Given the description of an element on the screen output the (x, y) to click on. 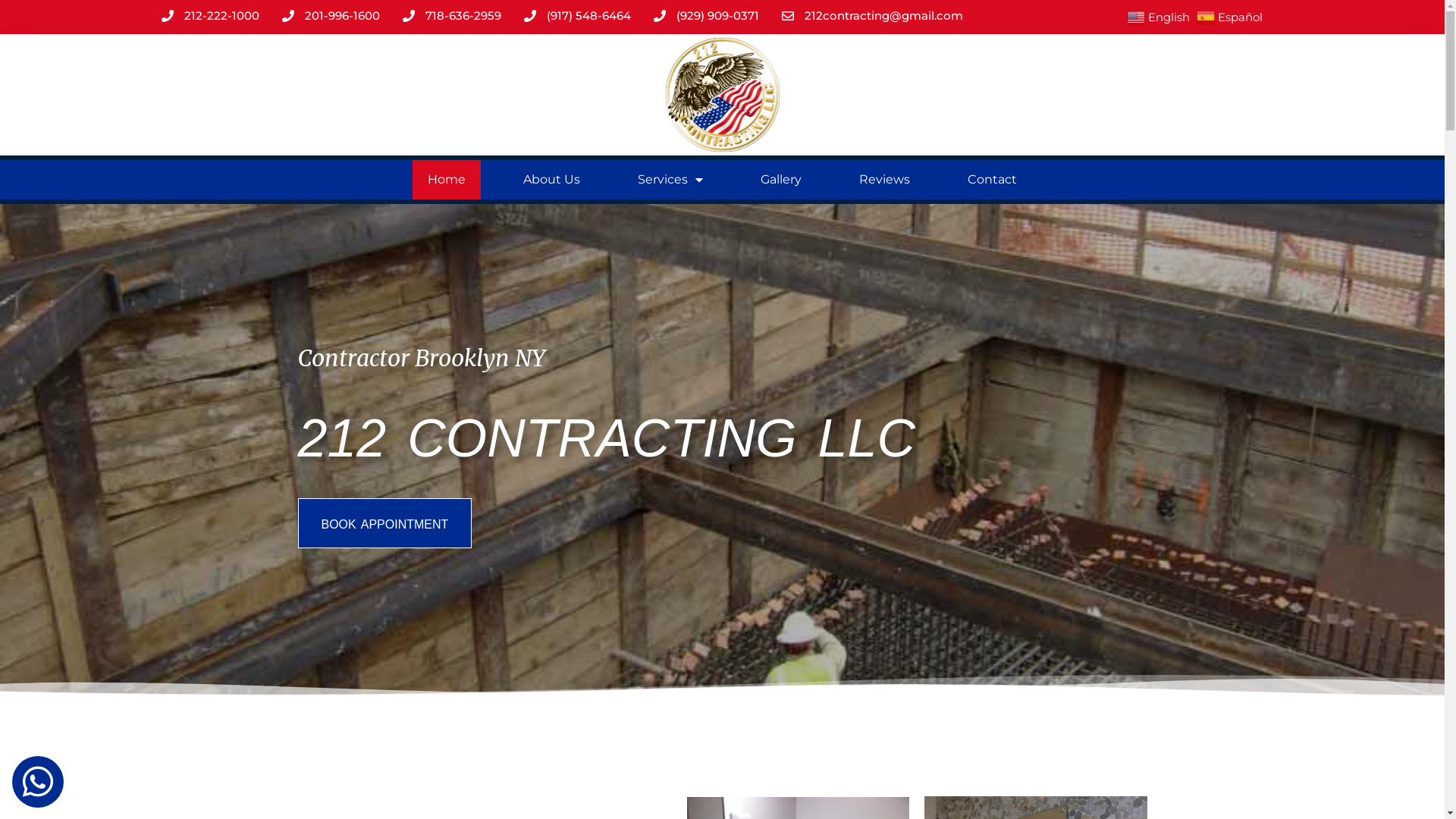
Reviews Element type: text (884, 179)
English Element type: text (1159, 16)
718-636-2959 Element type: text (450, 16)
212contracting@gmail.com Element type: text (871, 16)
201-996-1600 Element type: text (330, 16)
Services Element type: text (670, 179)
About Us Element type: text (551, 179)
212-222-1000 Element type: text (209, 16)
Gallery Element type: text (780, 179)
(917) 548-6464 Element type: text (576, 16)
(929) 909-0371 Element type: text (706, 16)
BOOK APPOINTMENT Element type: text (384, 523)
Contact Element type: text (992, 179)
Home Element type: text (446, 179)
